Given the description of an element on the screen output the (x, y) to click on. 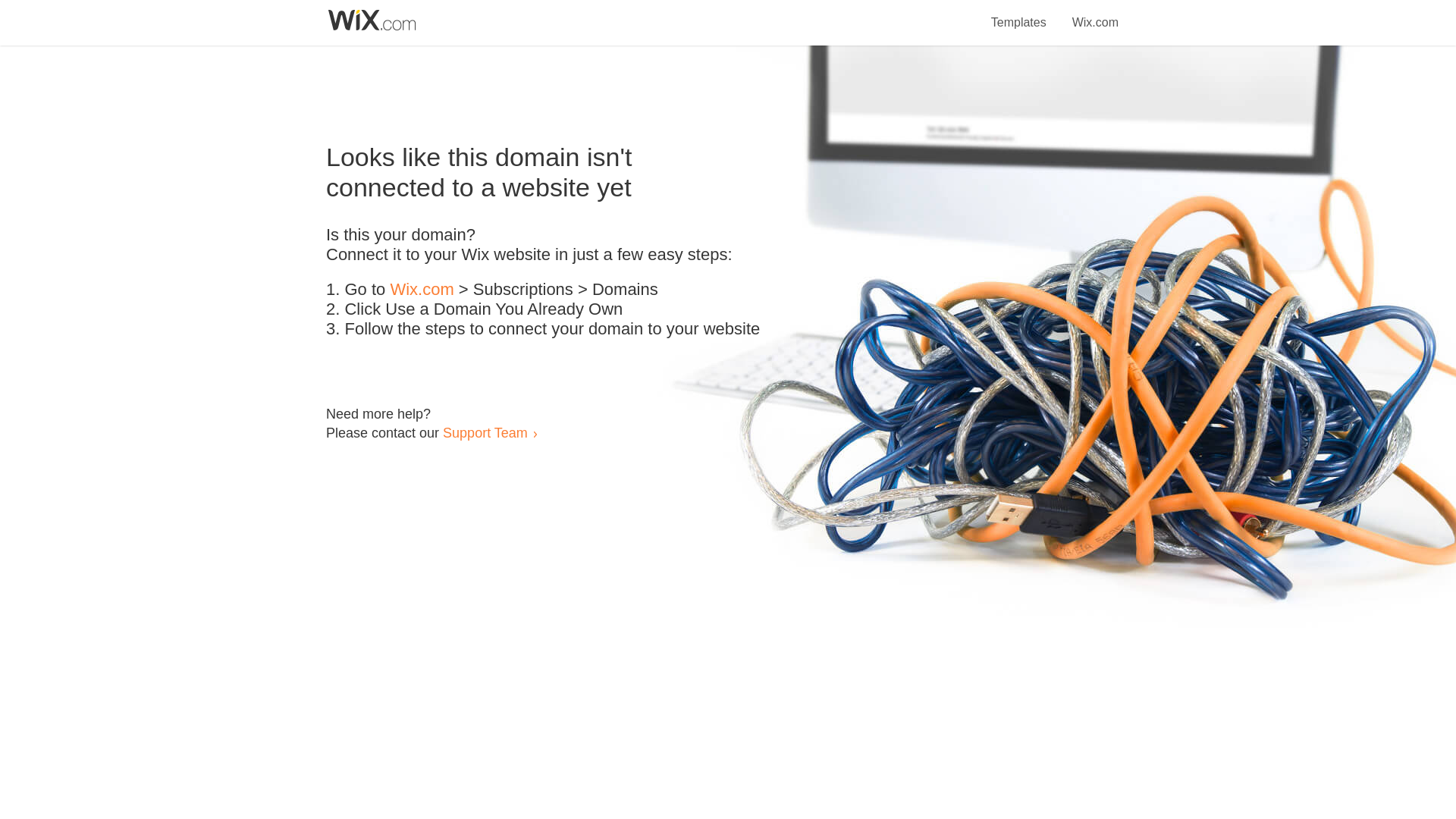
Wix.com (1095, 14)
Wix.com (421, 289)
Support Team (484, 432)
Templates (1018, 14)
